Given the description of an element on the screen output the (x, y) to click on. 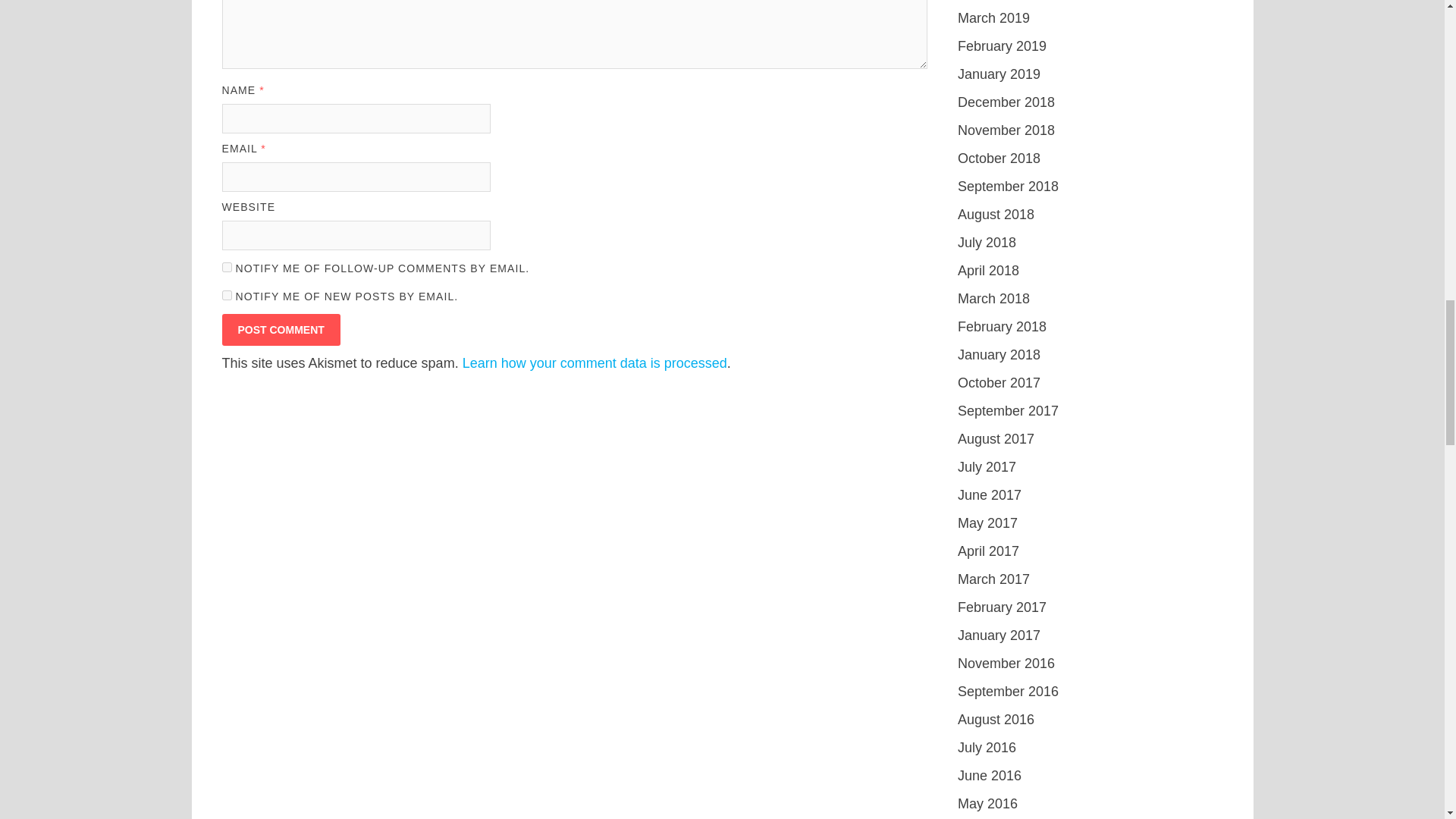
Post Comment (280, 329)
subscribe (226, 266)
subscribe (226, 294)
